Given the description of an element on the screen output the (x, y) to click on. 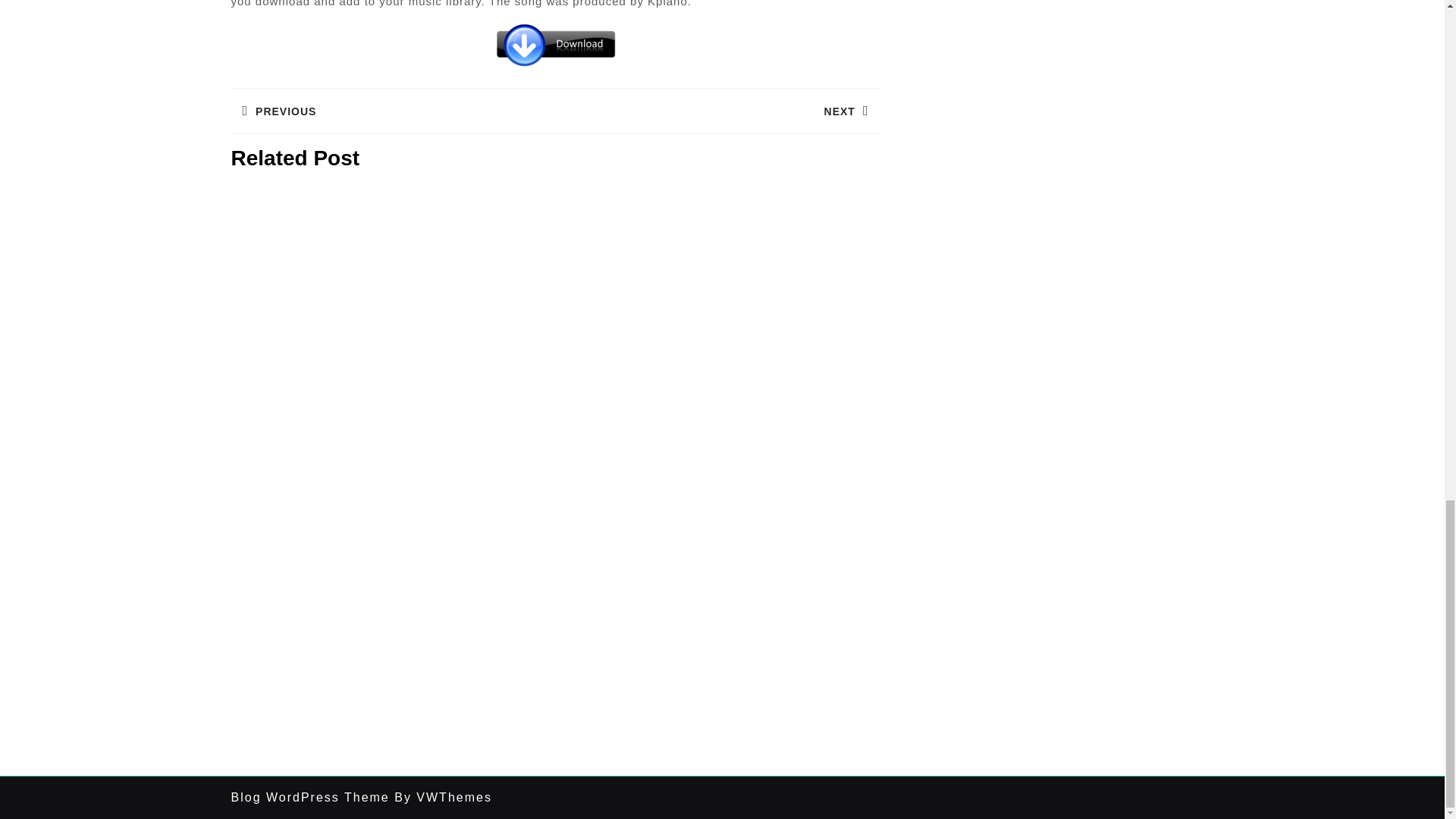
Blog WordPress Theme (309, 797)
